Given the description of an element on the screen output the (x, y) to click on. 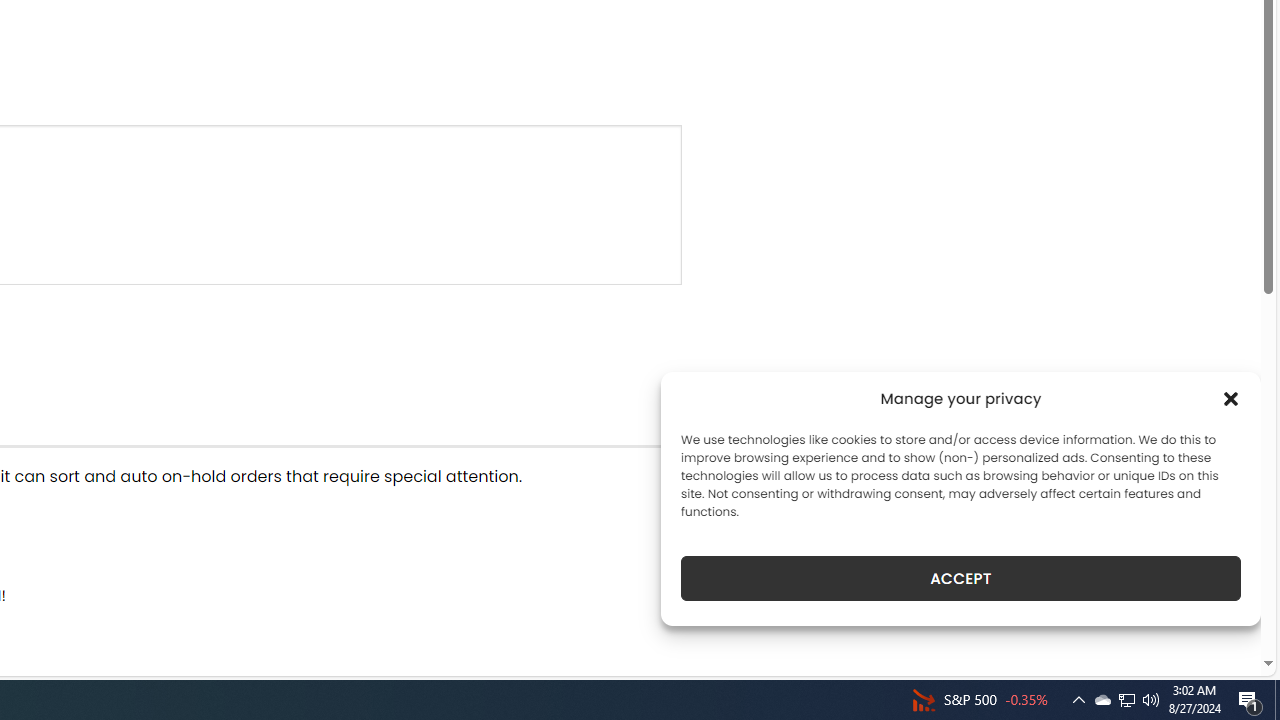
ACCEPT (960, 578)
Class: cmplz-close (1231, 398)
